Given the description of an element on the screen output the (x, y) to click on. 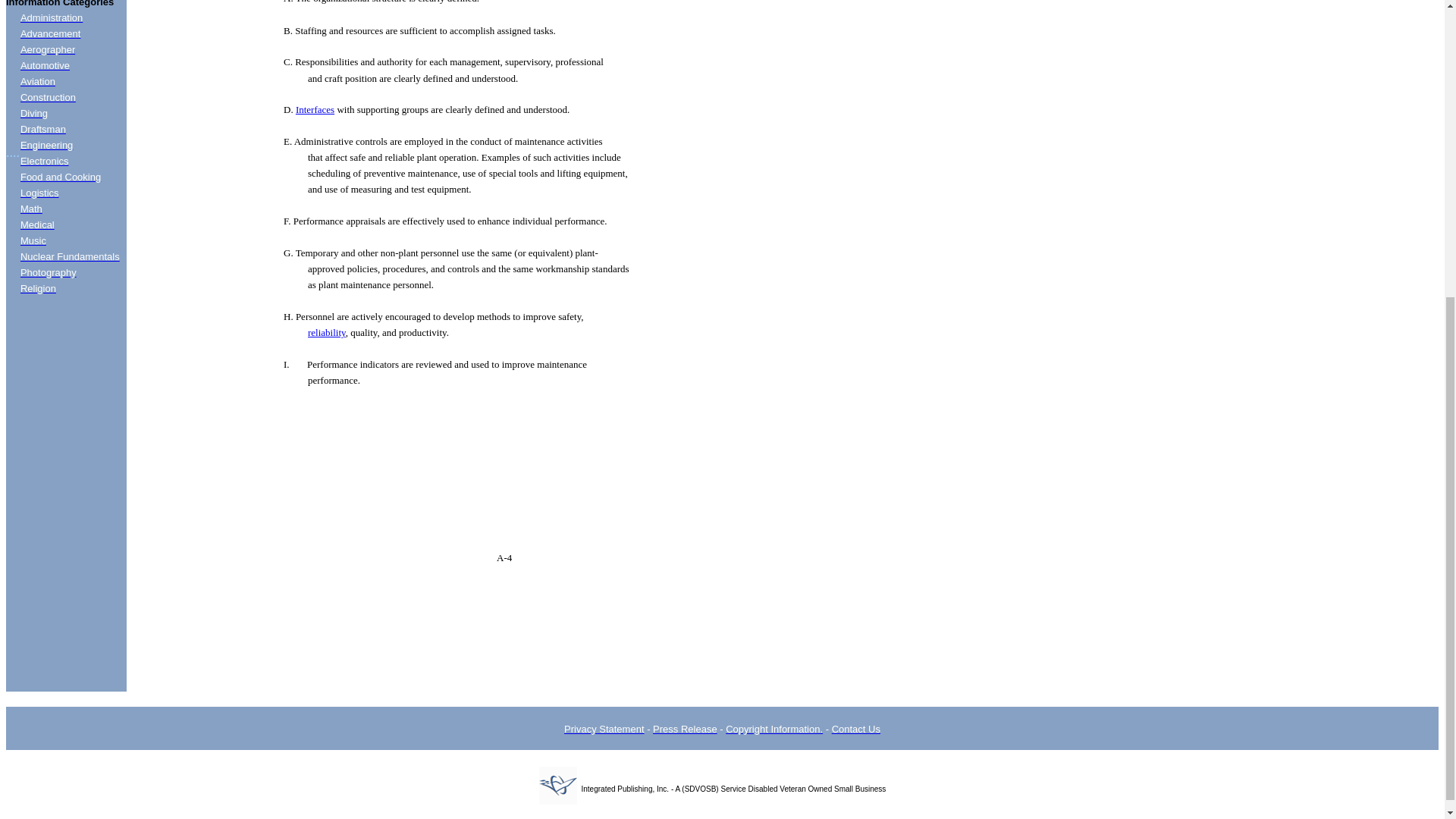
Copyright Information. (773, 728)
Engineering (46, 144)
Press Release (684, 728)
Electronics (44, 161)
Interfaces (314, 109)
reliability (326, 332)
Medical (37, 224)
Administration (51, 17)
Photography (48, 272)
Math (31, 208)
Religion (38, 288)
Automotive (44, 65)
Advancement (50, 33)
Privacy Statement (604, 728)
Aviation (37, 81)
